Given the description of an element on the screen output the (x, y) to click on. 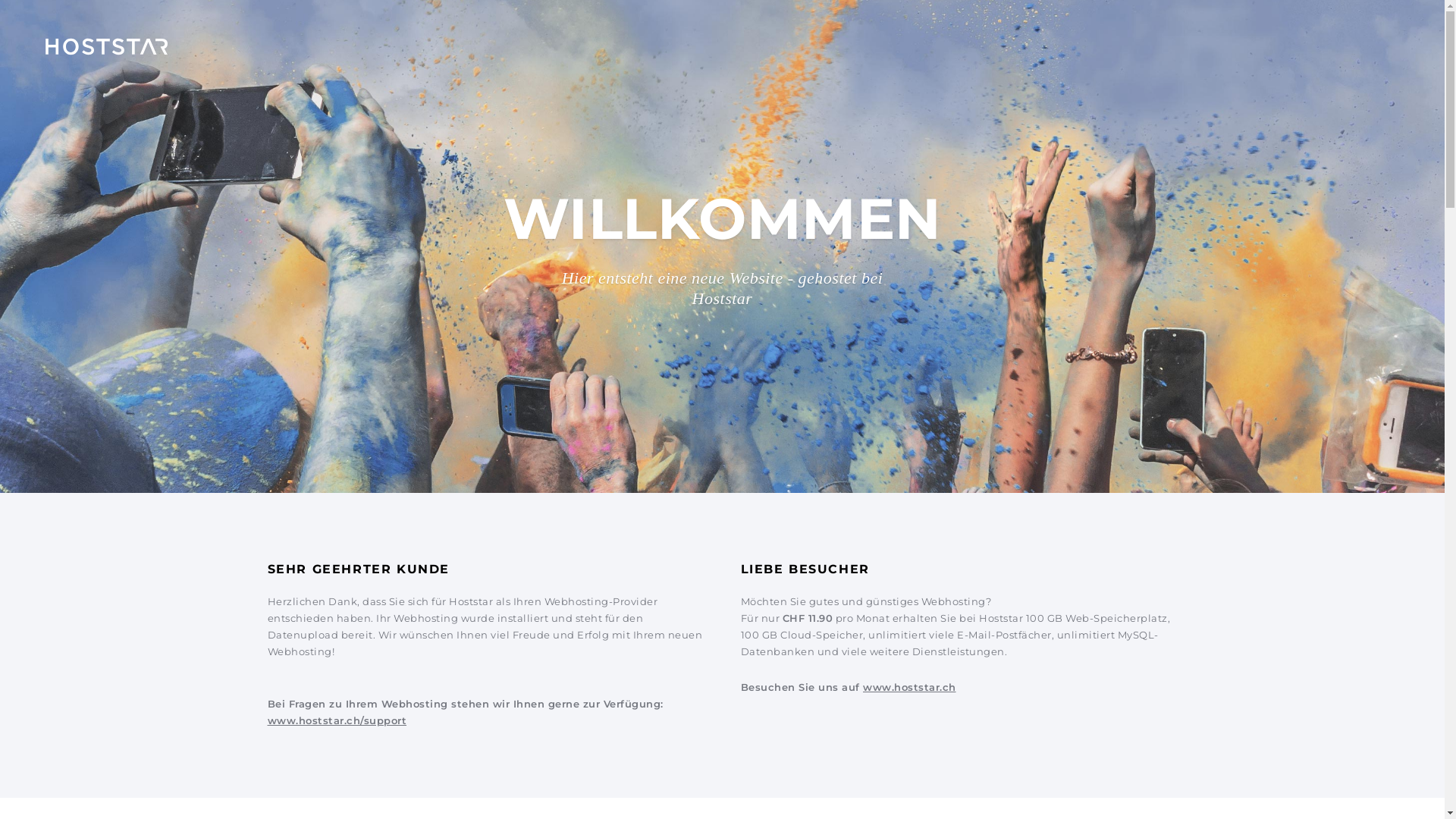
www.hoststar.ch/support Element type: text (336, 720)
www.hoststar.ch Element type: text (909, 686)
